Given the description of an element on the screen output the (x, y) to click on. 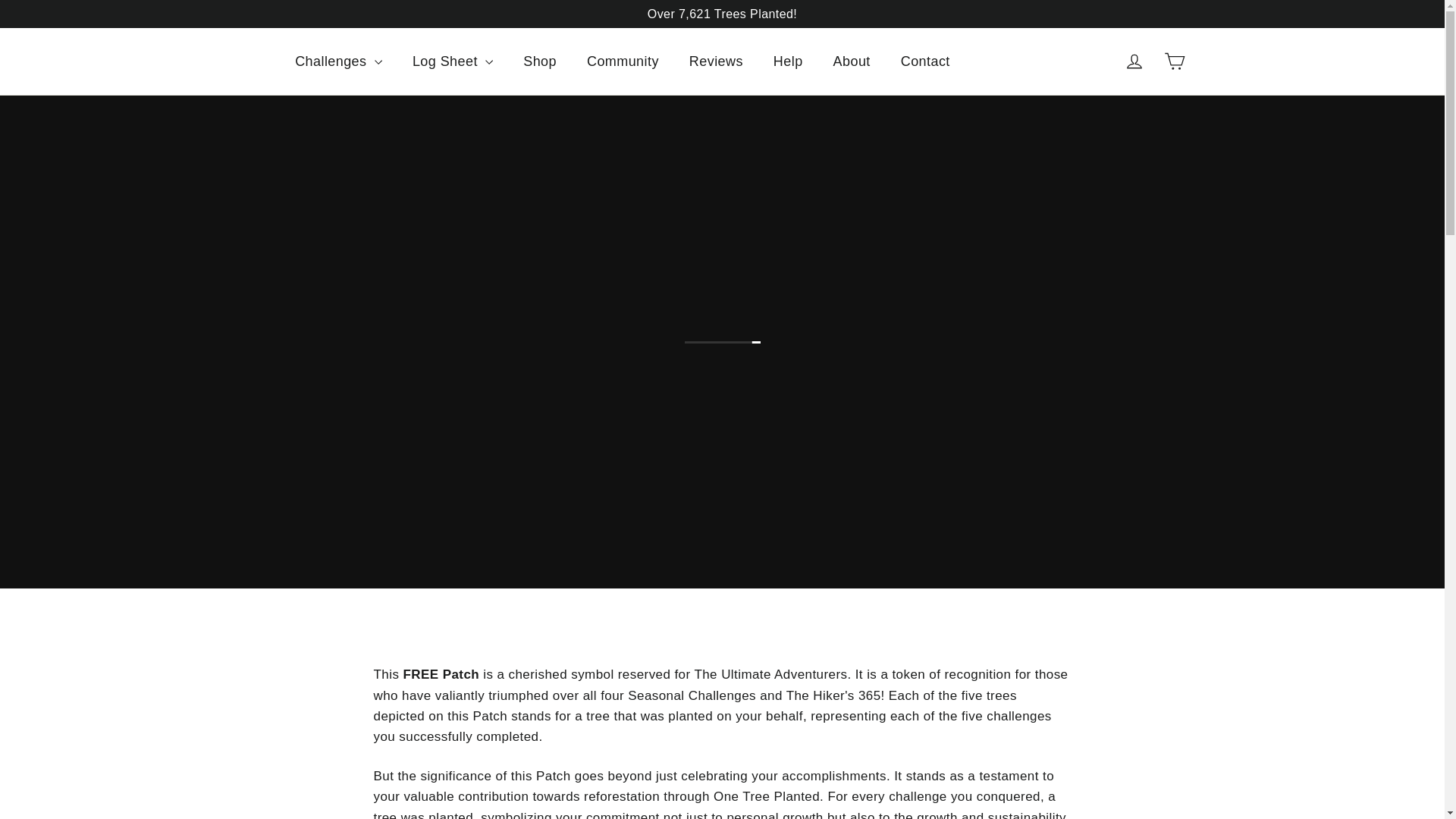
Challenges (338, 61)
